Given the description of an element on the screen output the (x, y) to click on. 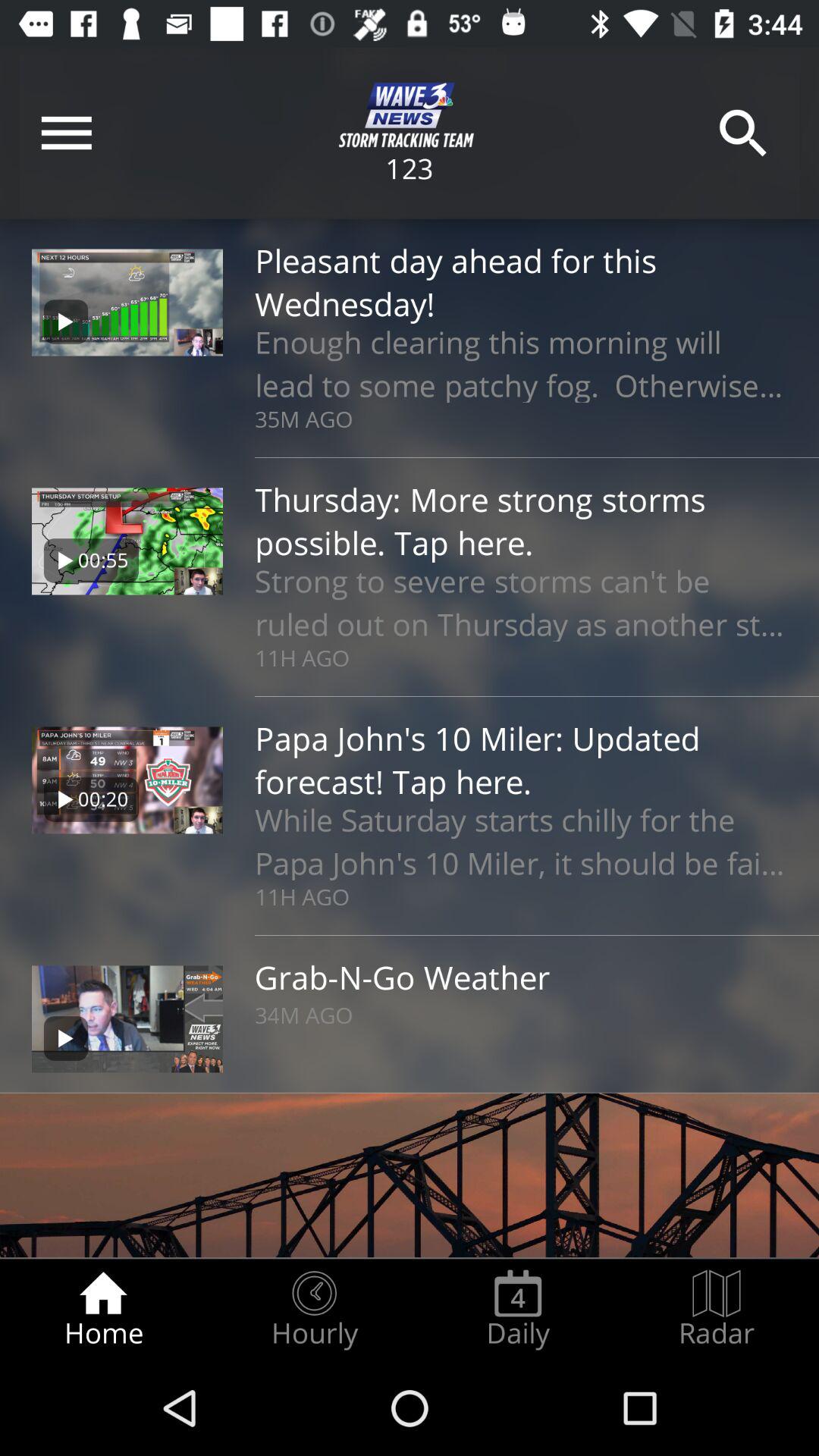
open the icon next to the radar radio button (518, 1309)
